Given the description of an element on the screen output the (x, y) to click on. 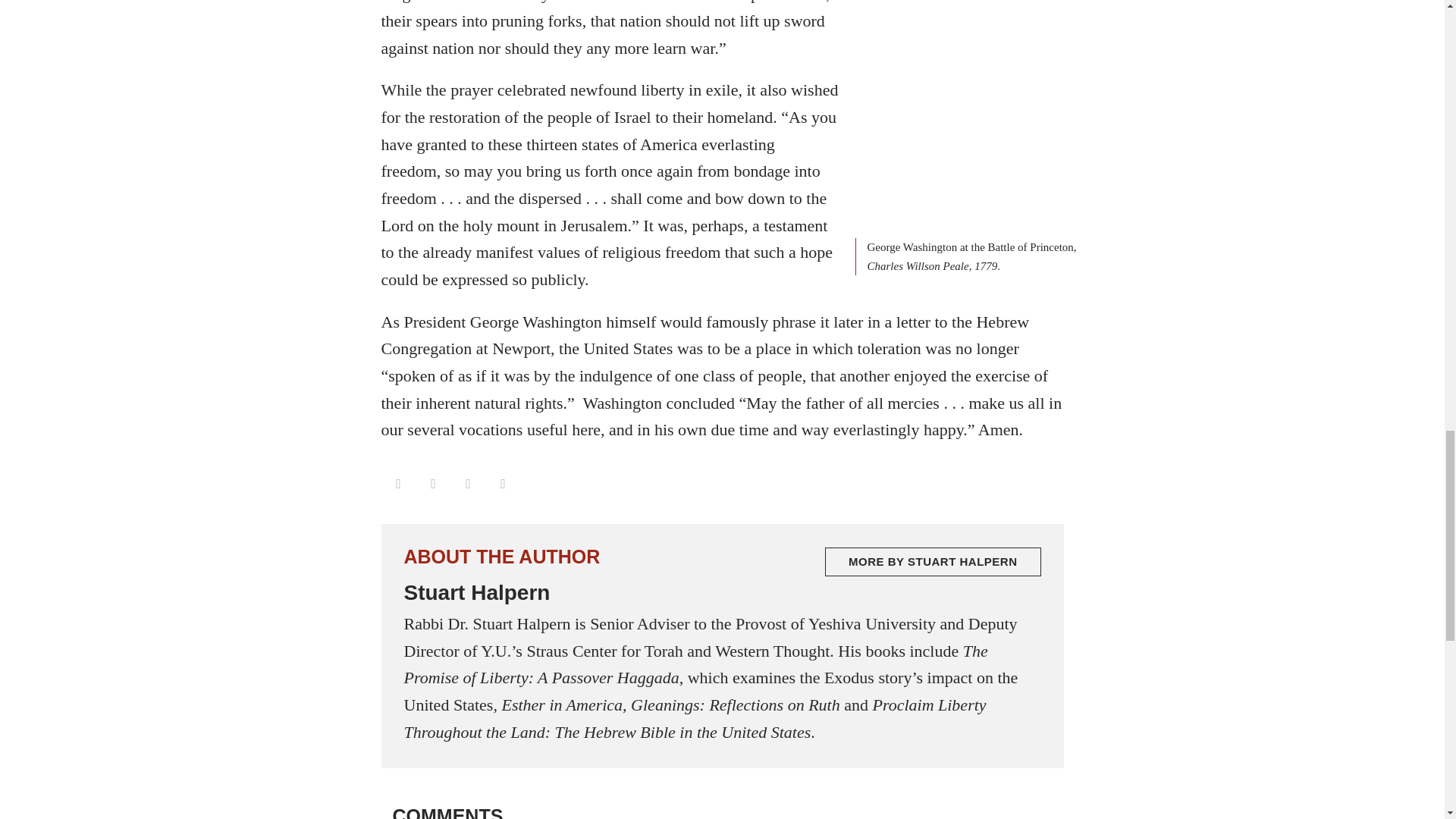
Print (397, 483)
Twitter (501, 483)
MORE BY STUART HALPERN (933, 561)
Email (431, 483)
Facebook (466, 483)
